Given the description of an element on the screen output the (x, y) to click on. 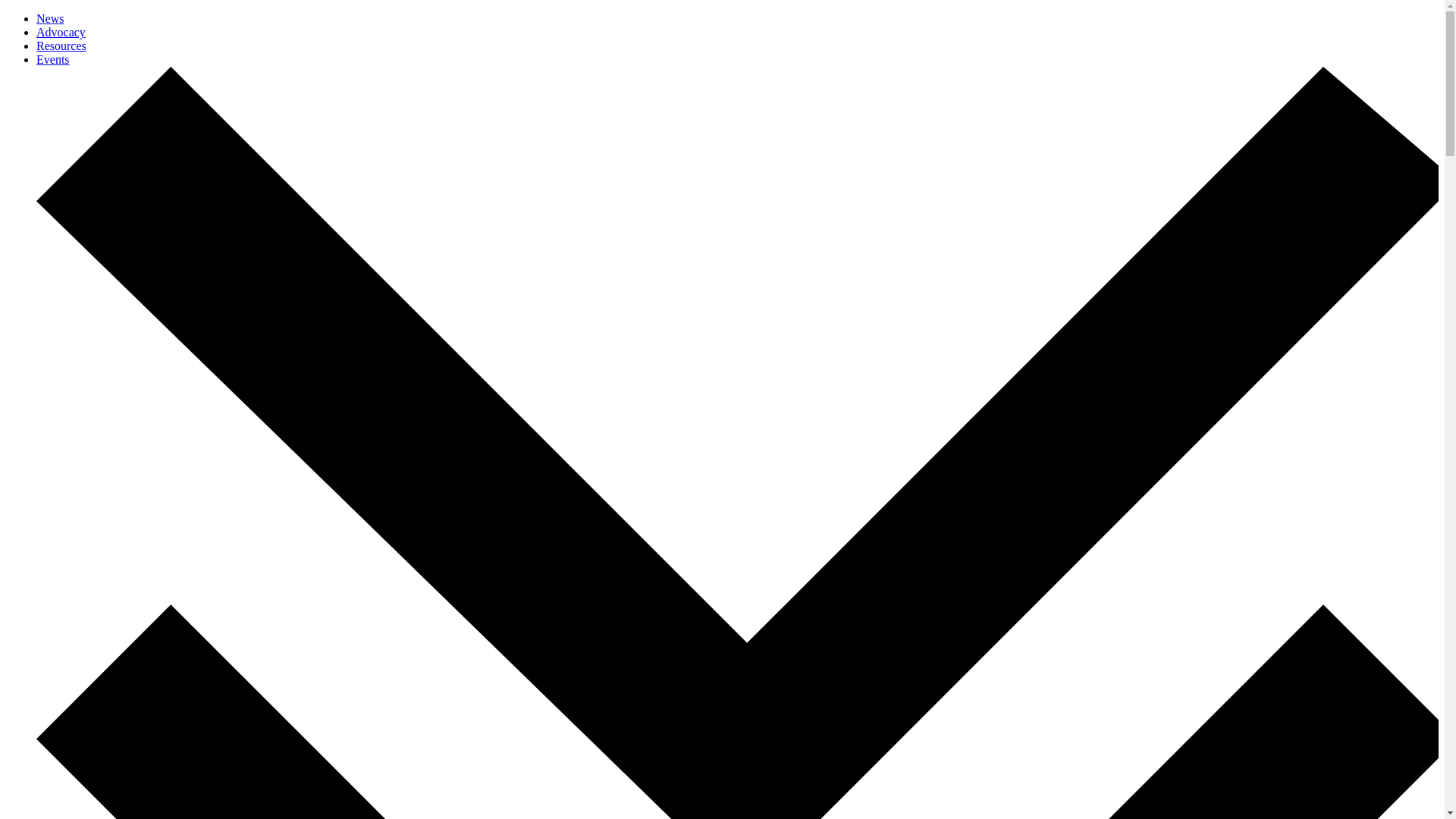
News (50, 18)
Advocacy (60, 31)
Resources (60, 45)
